Given the description of an element on the screen output the (x, y) to click on. 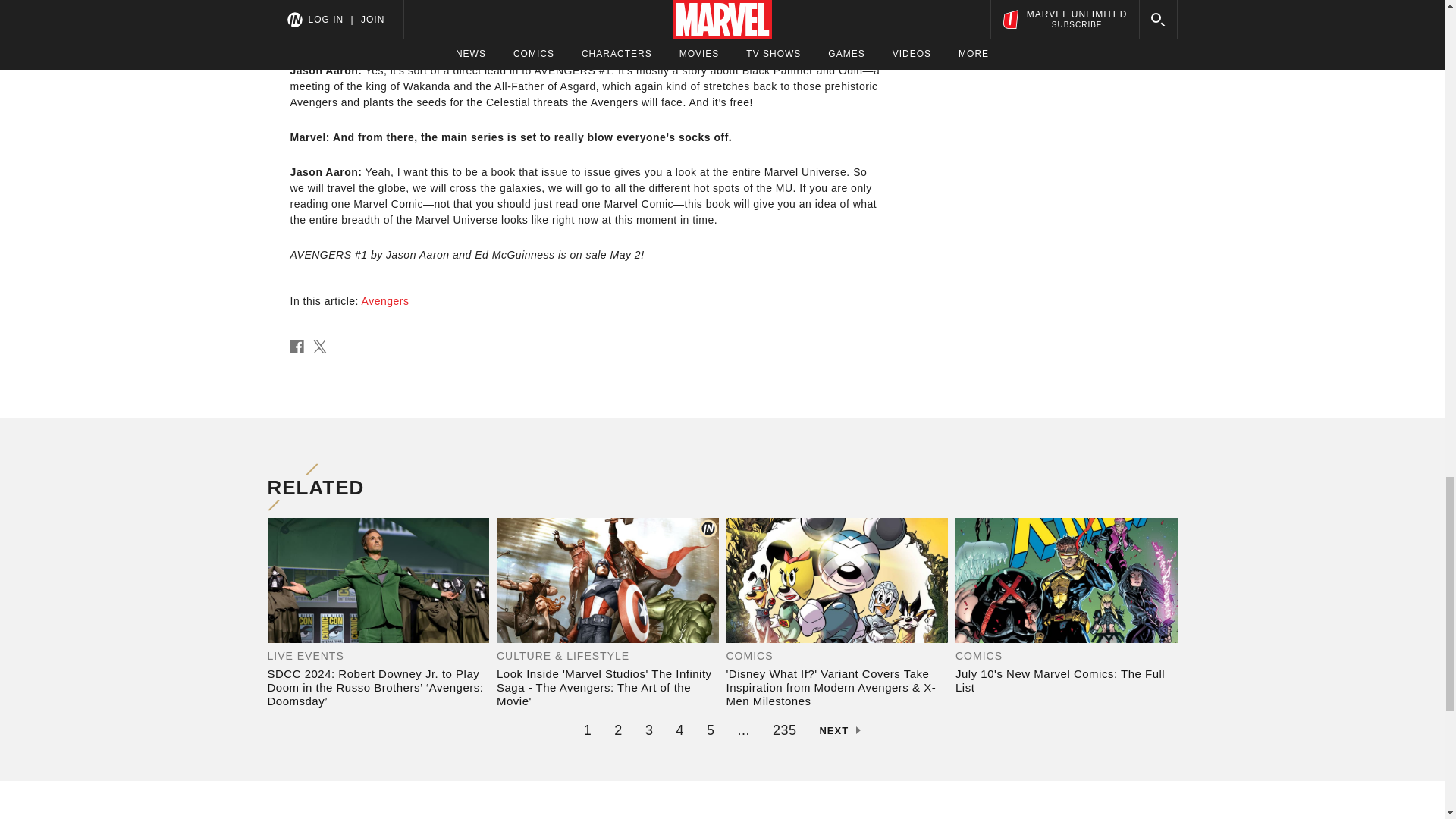
Avengers (385, 300)
